Given the description of an element on the screen output the (x, y) to click on. 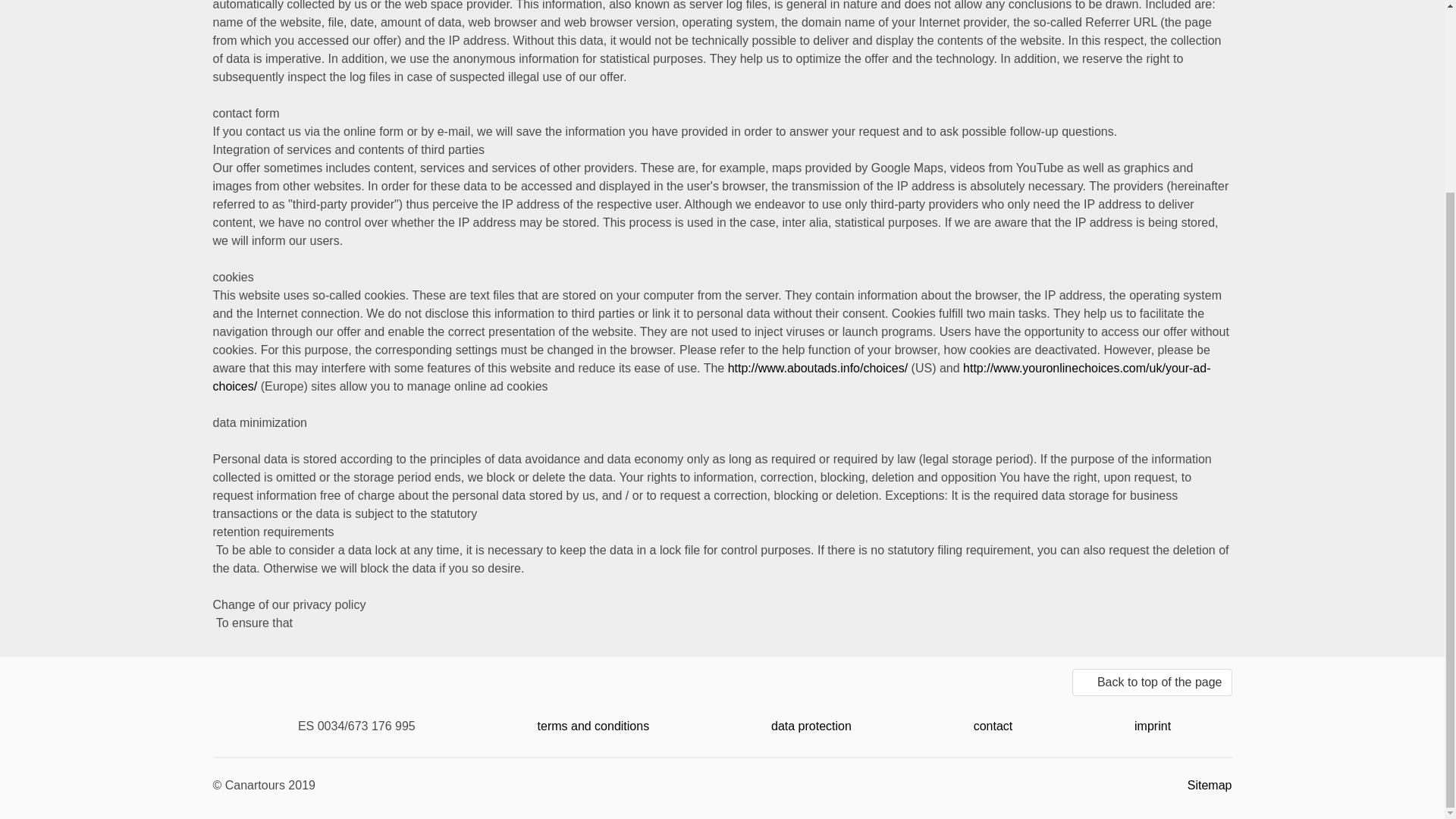
terms and conditions (593, 726)
imprint (1152, 726)
data protection (811, 726)
contact (993, 726)
Back to top of the page (1151, 682)
Sitemap (1209, 784)
